Given the description of an element on the screen output the (x, y) to click on. 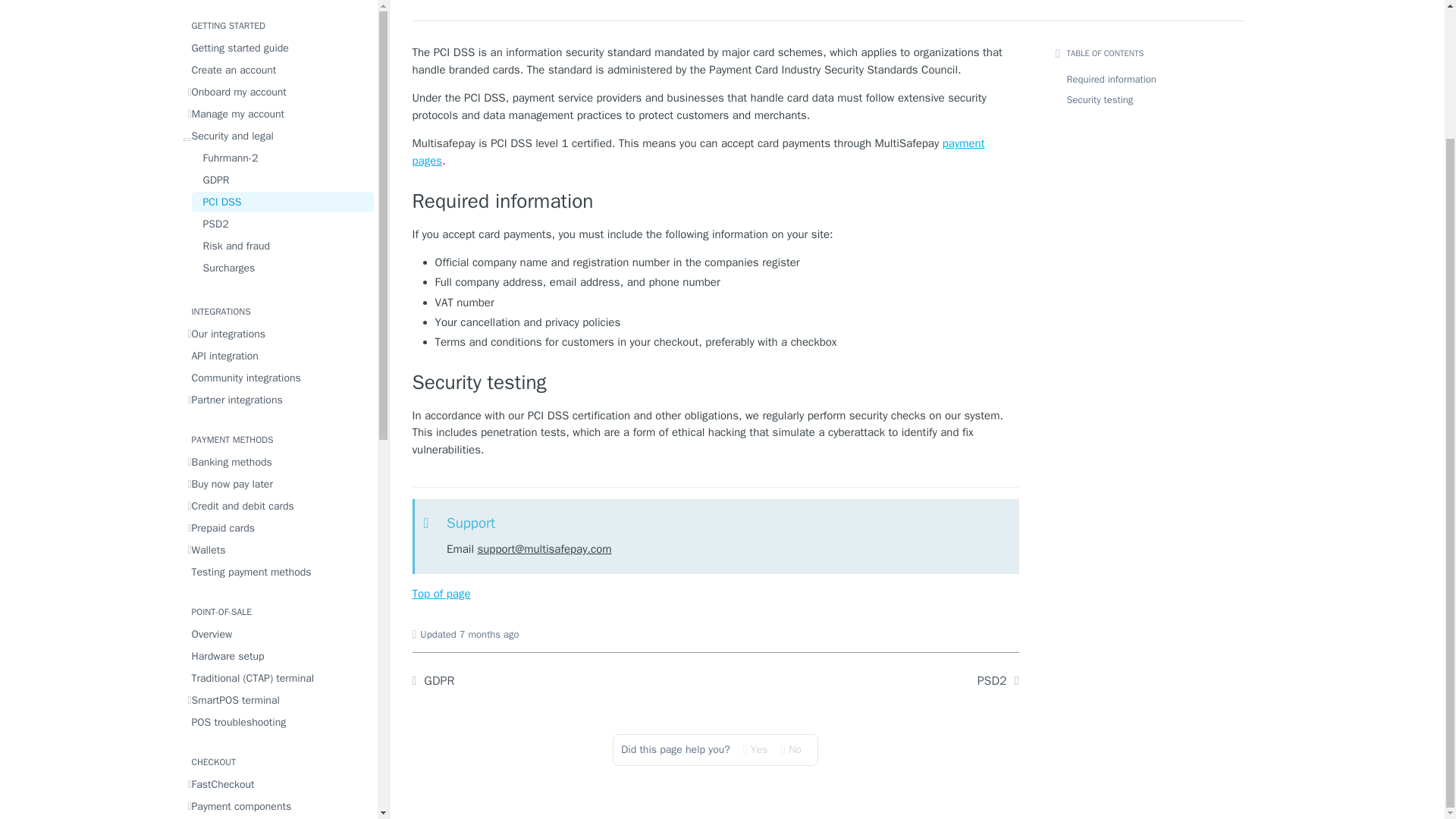
Manage my account (277, 29)
Required information (715, 201)
Onboard my account (277, 9)
Security testing (715, 383)
